Given the description of an element on the screen output the (x, y) to click on. 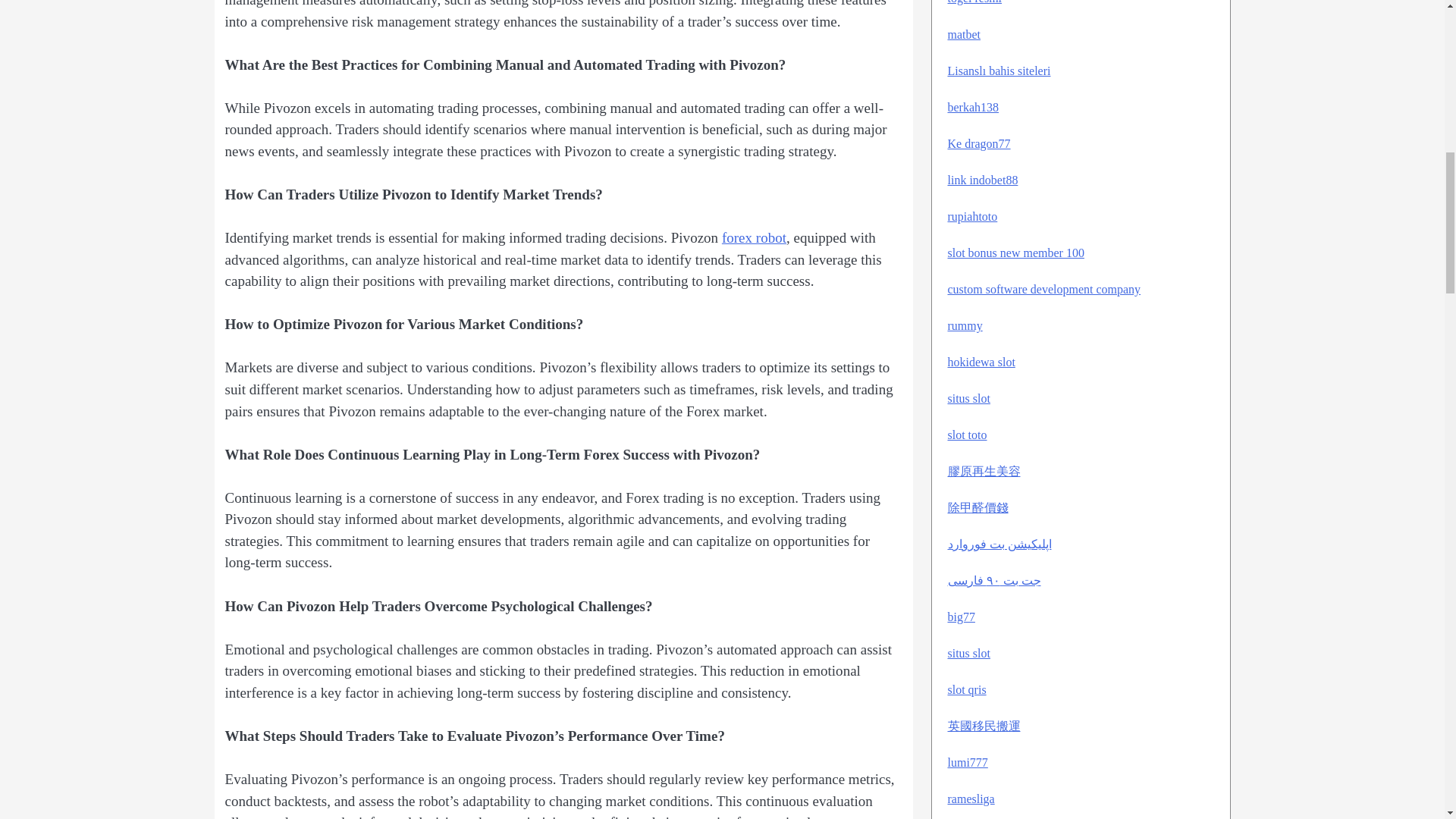
berkah138 (972, 106)
link indobet88 (982, 179)
Ke dragon77 (978, 143)
forex robot (754, 237)
matbet (964, 33)
togel resmi (975, 2)
